Given the description of an element on the screen output the (x, y) to click on. 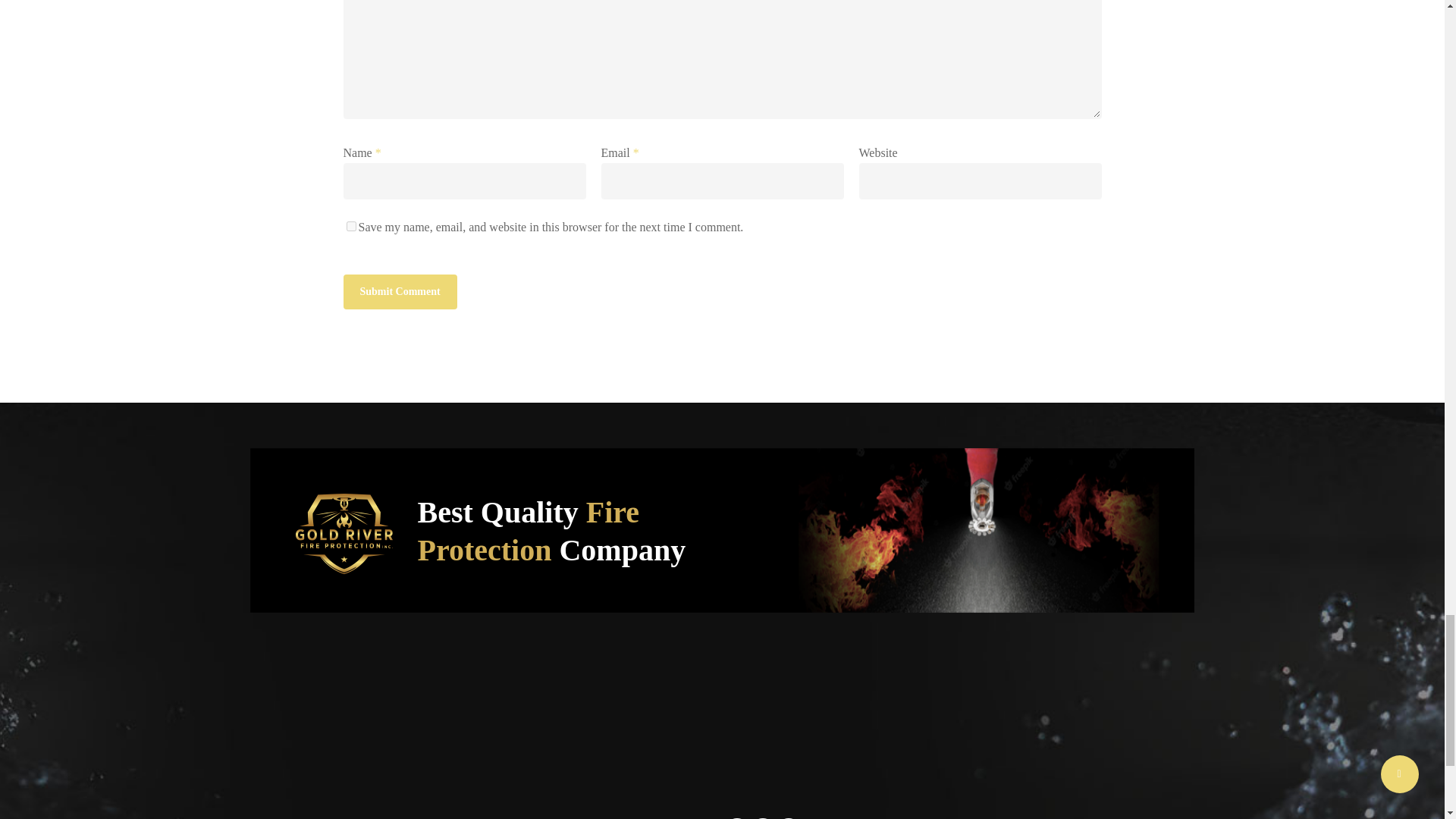
yes (350, 225)
Submit Comment (399, 291)
Submit Comment (399, 291)
